Given the description of an element on the screen output the (x, y) to click on. 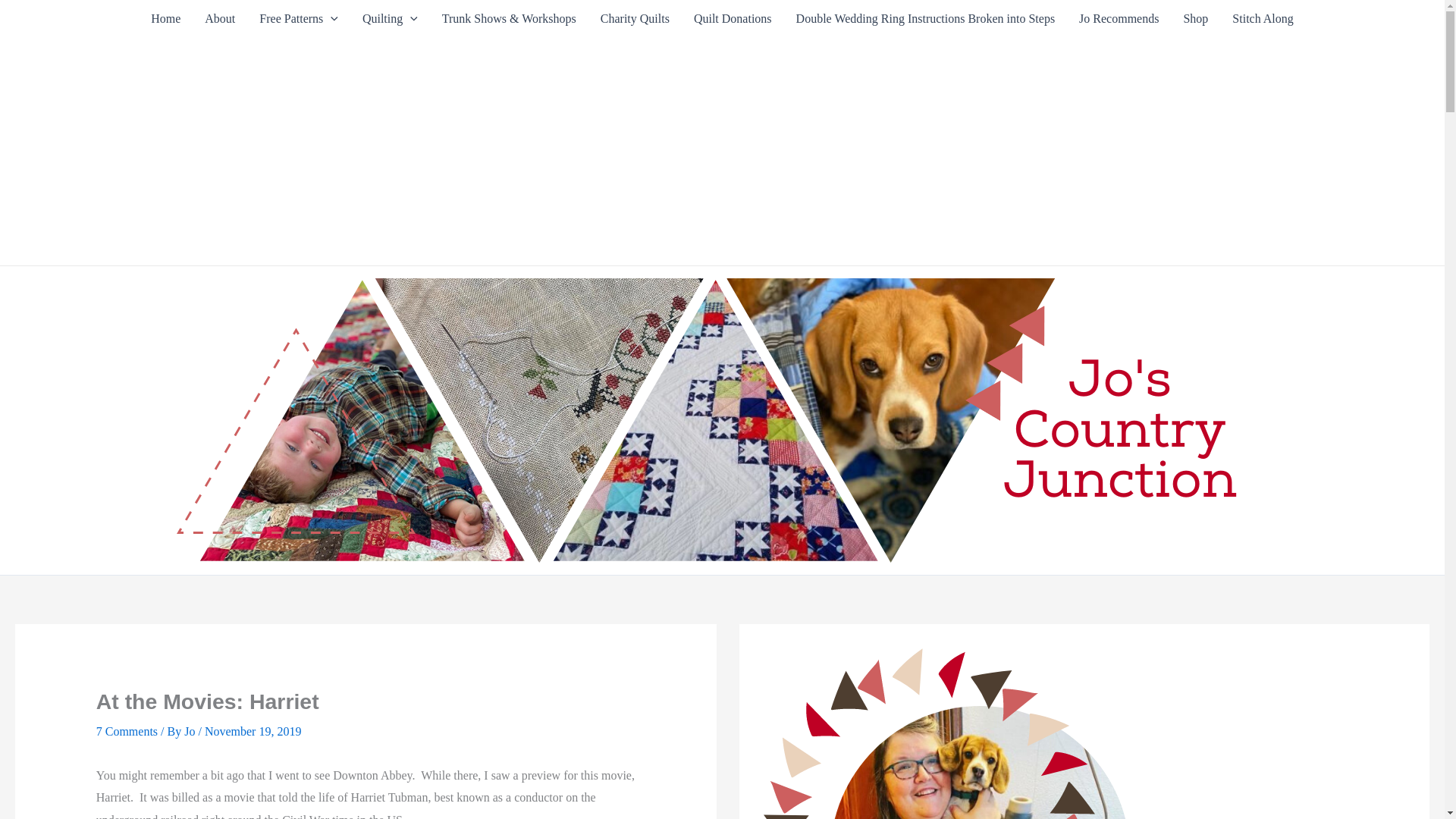
Home (165, 18)
Charity Quilts (634, 18)
About (219, 18)
Free Patterns (298, 18)
Quilts of 2012 (389, 18)
Quilt Donations (732, 18)
Quilting (389, 18)
View all posts by Jo (191, 730)
